Given the description of an element on the screen output the (x, y) to click on. 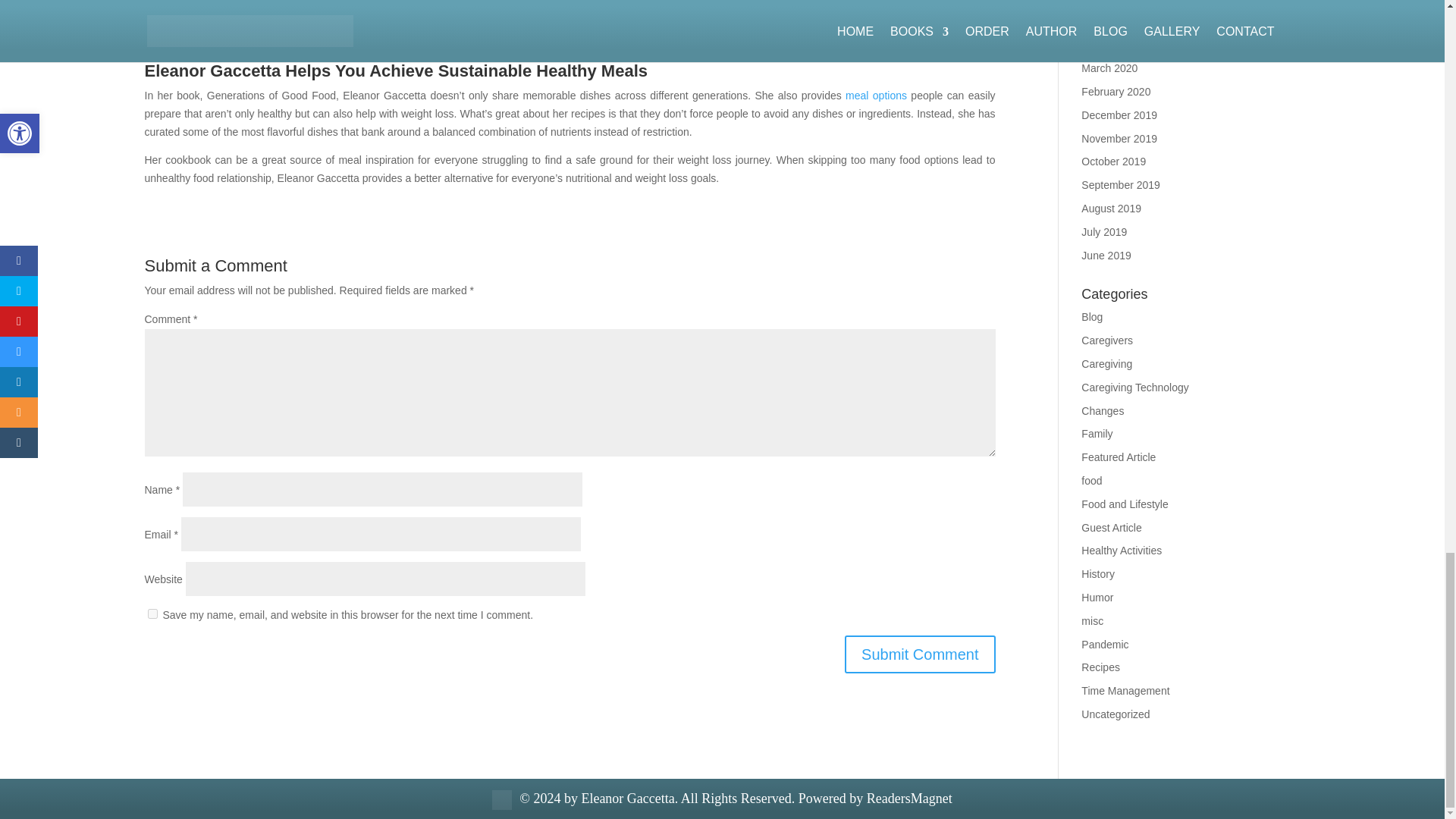
yes (152, 614)
Submit Comment (919, 654)
Submit Comment (919, 654)
meal options (876, 95)
